Given the description of an element on the screen output the (x, y) to click on. 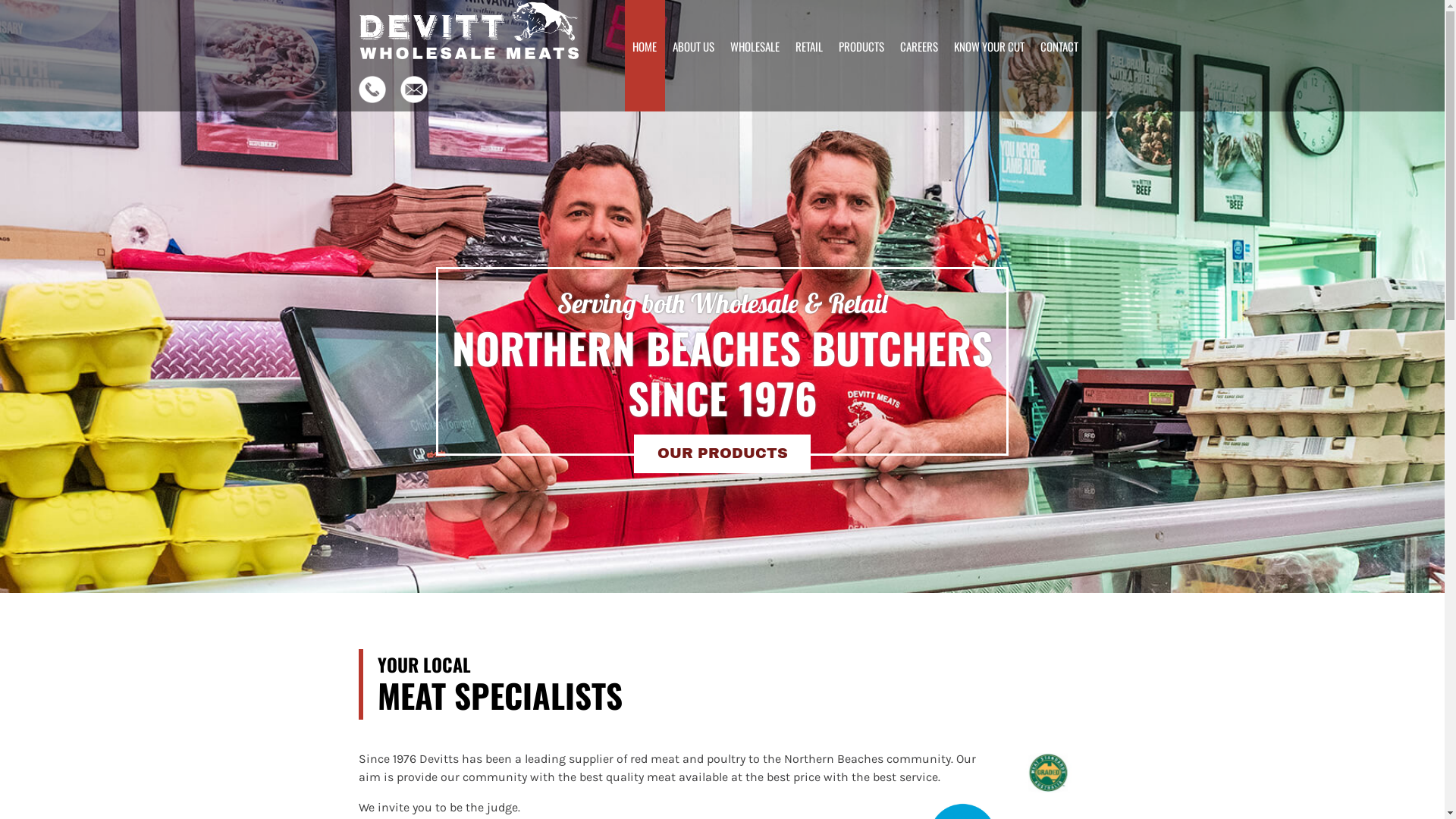
Return to homepage Element type: hover (468, 29)
OUR PRODUCTS Element type: text (721, 453)
